Given the description of an element on the screen output the (x, y) to click on. 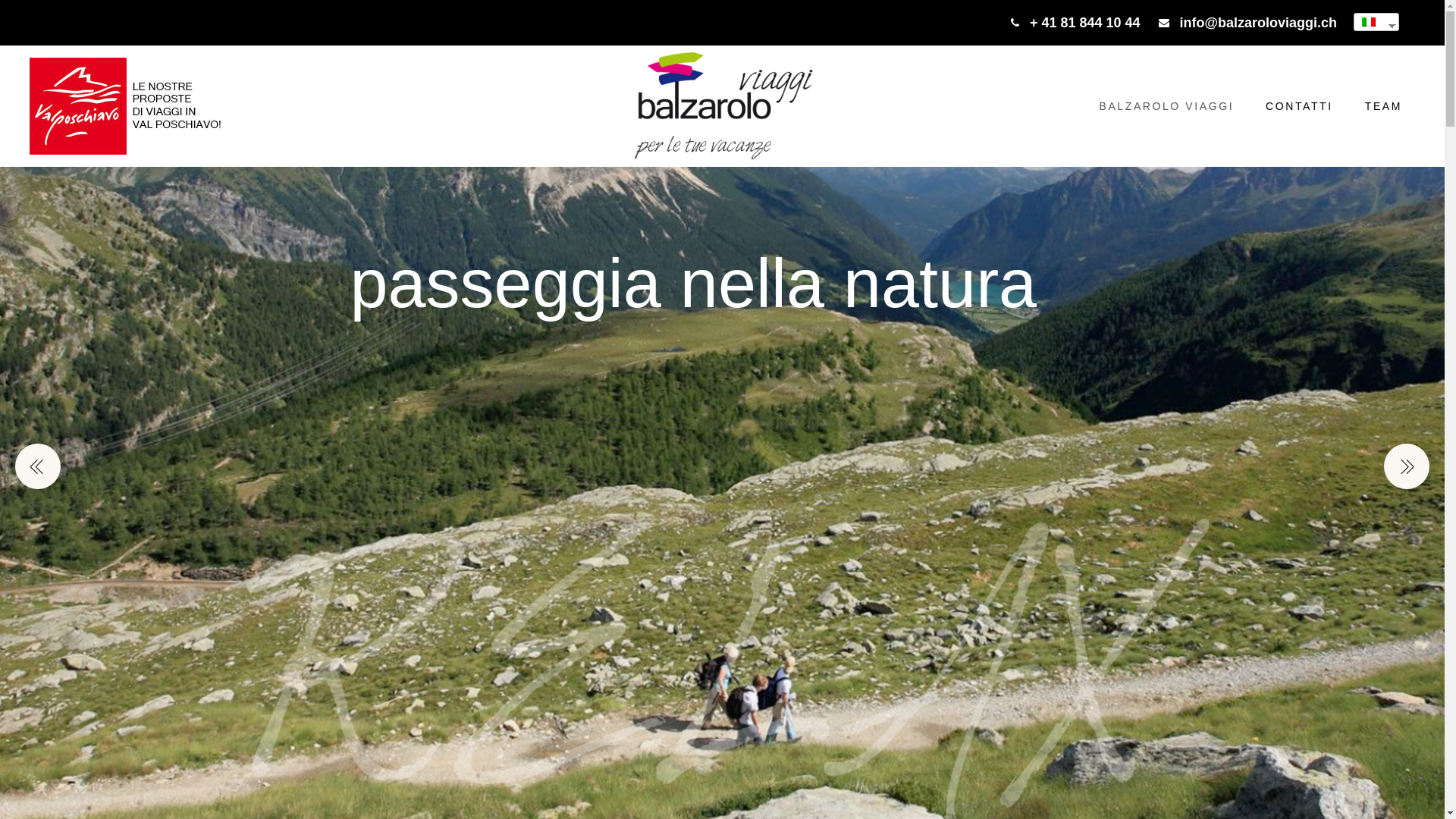
Italiano Element type: hover (1368, 21)
info@balzaroloviaggi.ch Element type: text (1247, 22)
Italiano Element type: hover (1370, 21)
BALZAROLO VIAGGI Element type: text (1166, 105)
+ 41 81 844 10 44 Element type: text (1075, 22)
CONTATTI Element type: text (1299, 105)
TEAM Element type: text (1383, 105)
